Given the description of an element on the screen output the (x, y) to click on. 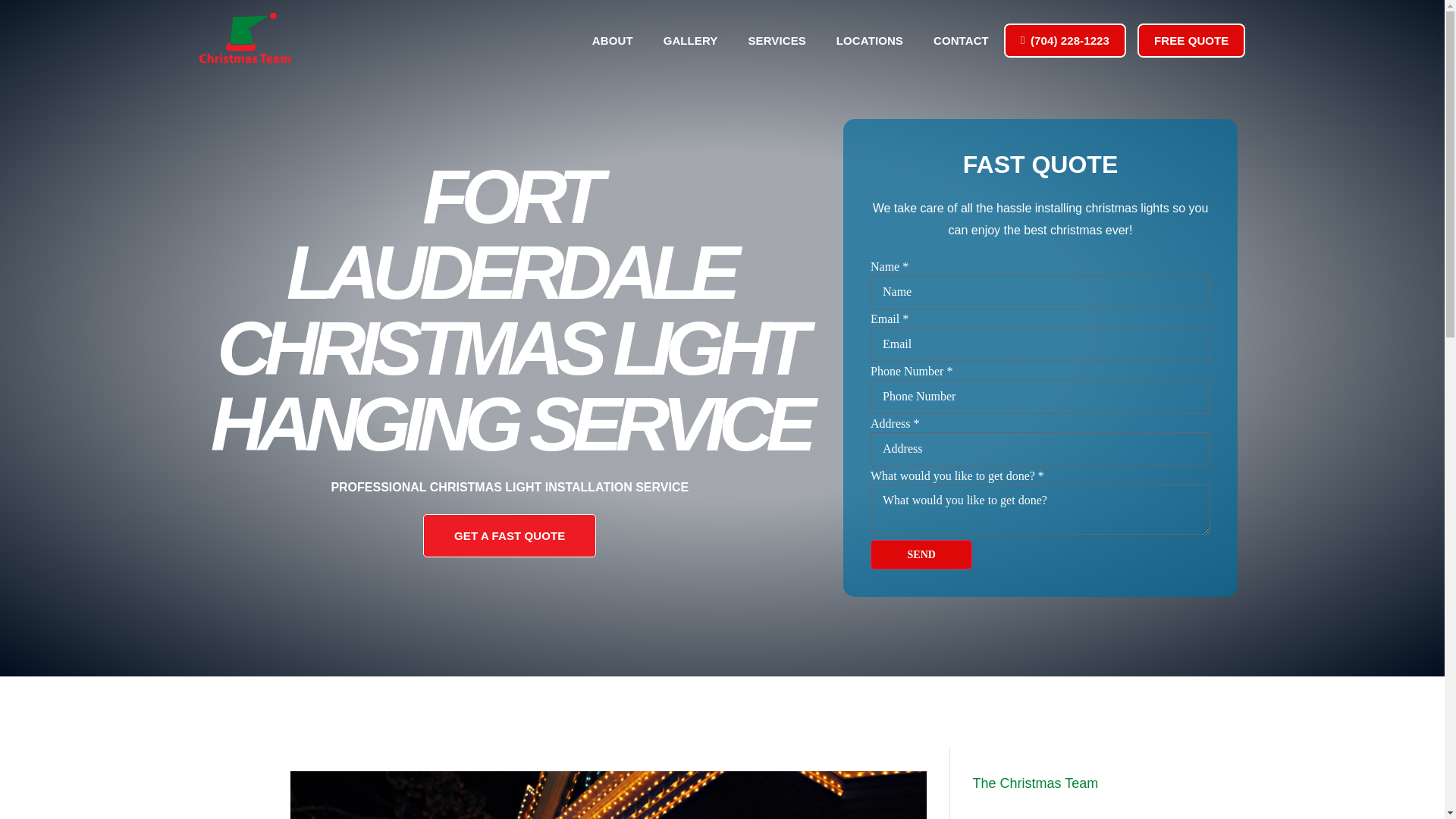
FREE QUOTE (1191, 40)
SERVICES (776, 40)
CONTACT (961, 40)
GALLERY (690, 40)
GET A FAST QUOTE (509, 535)
SEND (921, 554)
ABOUT (611, 40)
LOCATIONS (869, 40)
